Given the description of an element on the screen output the (x, y) to click on. 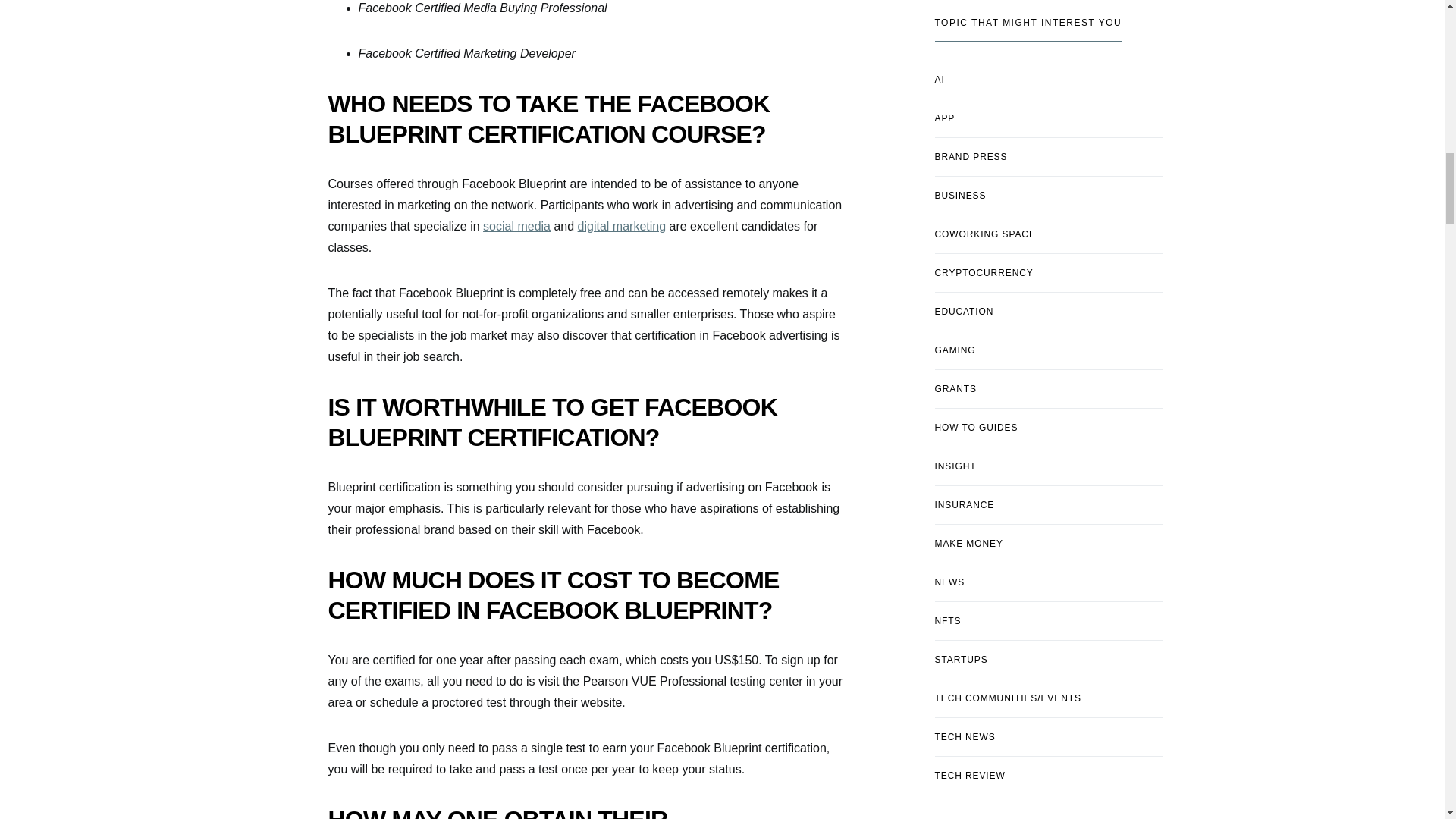
social media (516, 226)
digital marketing (622, 226)
